Given the description of an element on the screen output the (x, y) to click on. 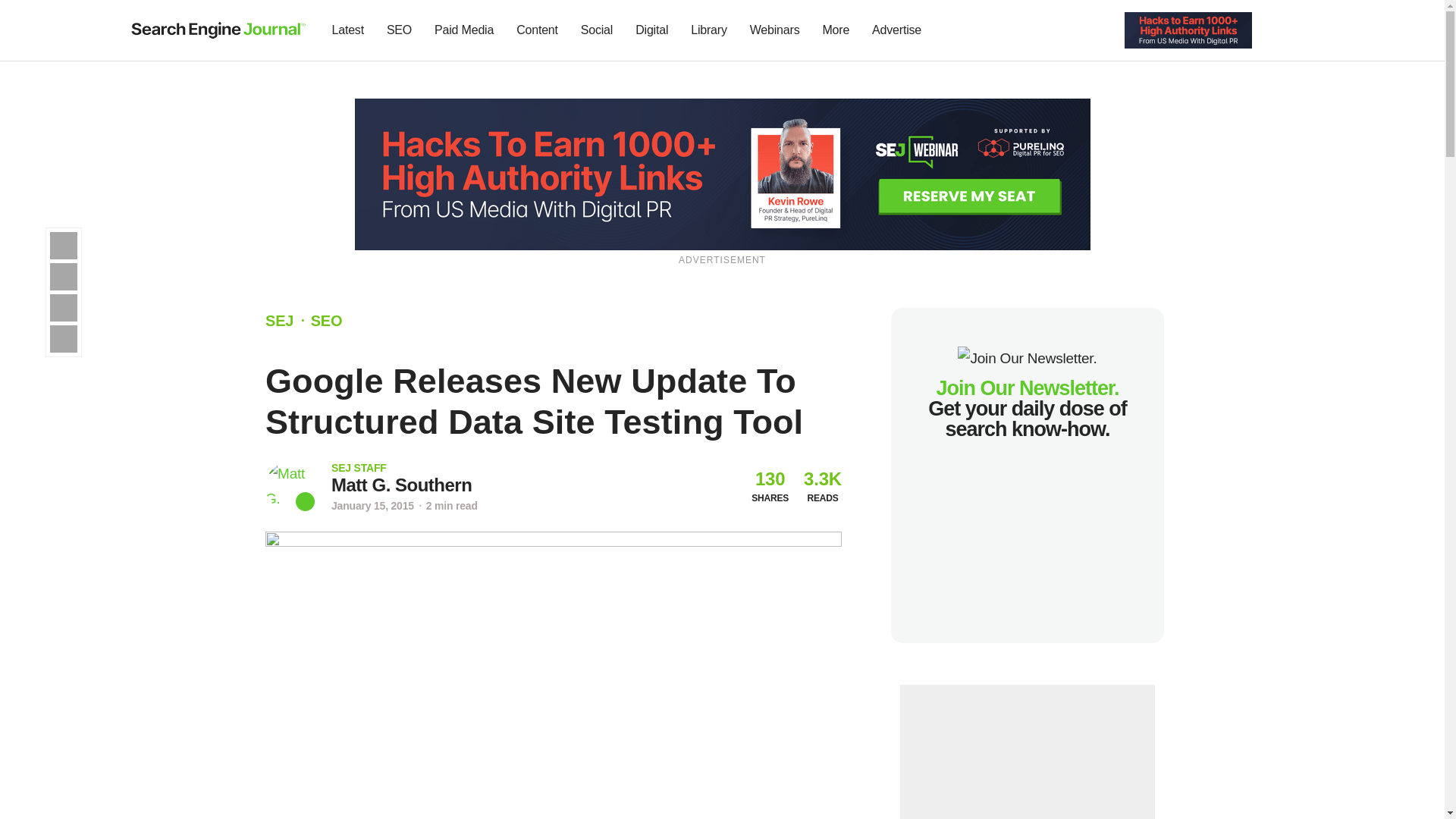
Go to Author Page (401, 485)
SEO (399, 30)
Paid Media (464, 30)
Go to Author Page (289, 486)
Click to Search (1304, 30)
Register For Free (722, 172)
Subscribe to our Newsletter (1277, 30)
Latest (347, 30)
Register For Free (1187, 28)
